Given the description of an element on the screen output the (x, y) to click on. 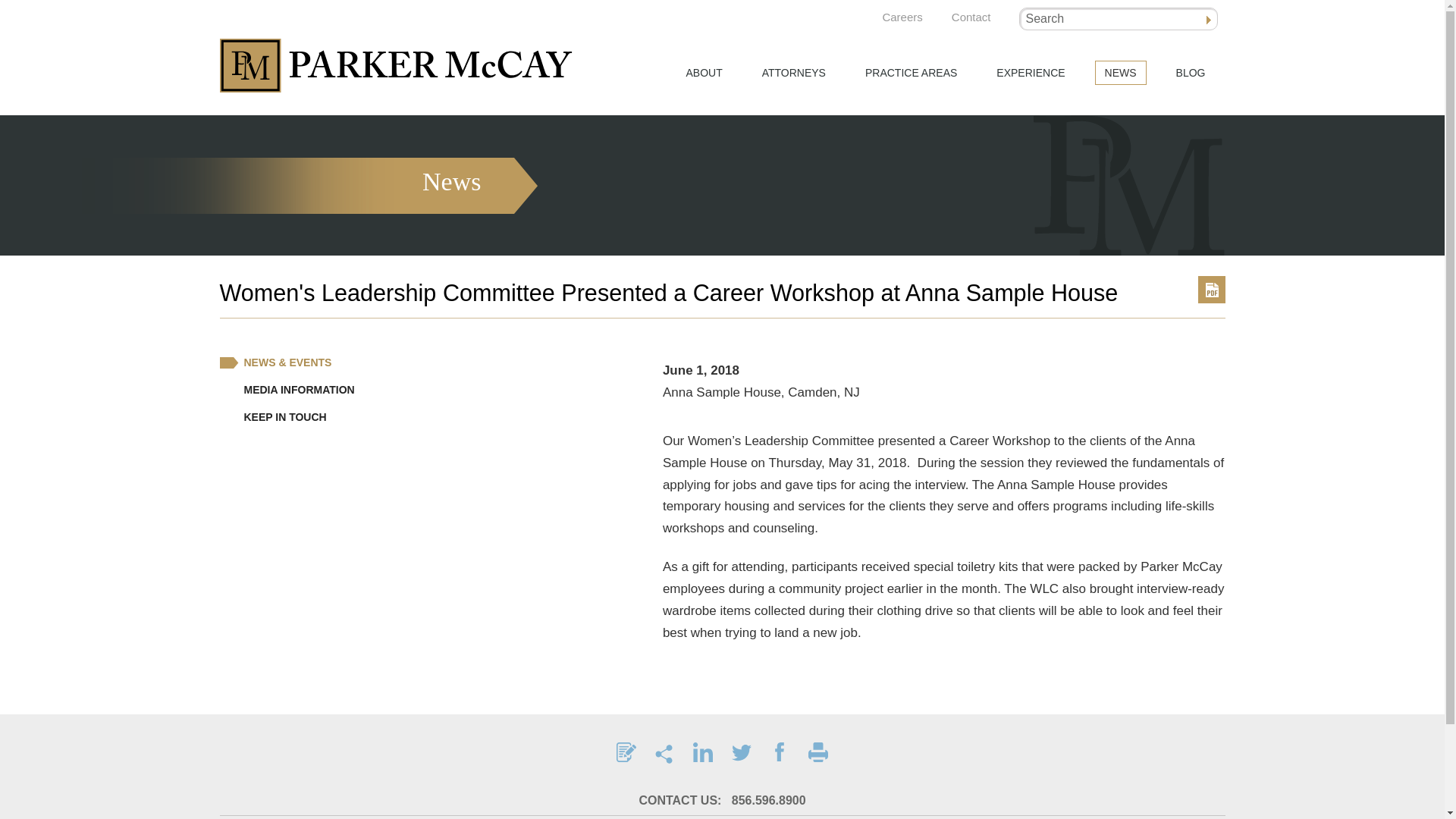
Print PDF (1211, 289)
LinkedIn (702, 752)
EXPERIENCE (1030, 72)
NEWS (1120, 72)
ABOUT (703, 72)
Facebook (779, 752)
MEDIA INFORMATION (287, 389)
ATTORNEYS (793, 72)
Print (817, 752)
Twitter (741, 752)
Sign Up (626, 752)
Share (664, 752)
BLOG (1190, 72)
Contact (970, 16)
Careers (901, 16)
